Given the description of an element on the screen output the (x, y) to click on. 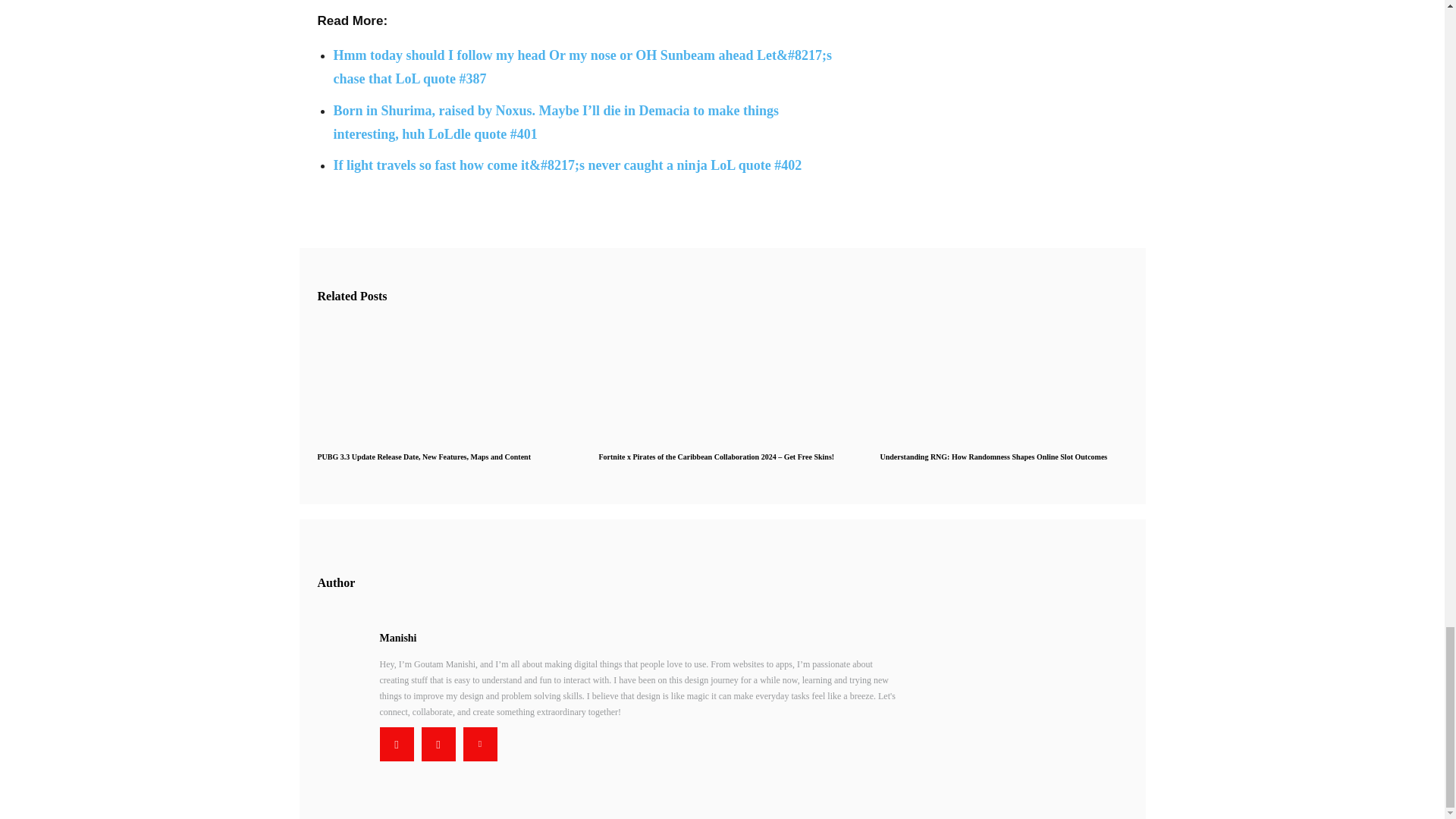
Manishi (638, 637)
PUBG 3.3 Update Release Date, New Features, Maps and Content (423, 456)
